Given the description of an element on the screen output the (x, y) to click on. 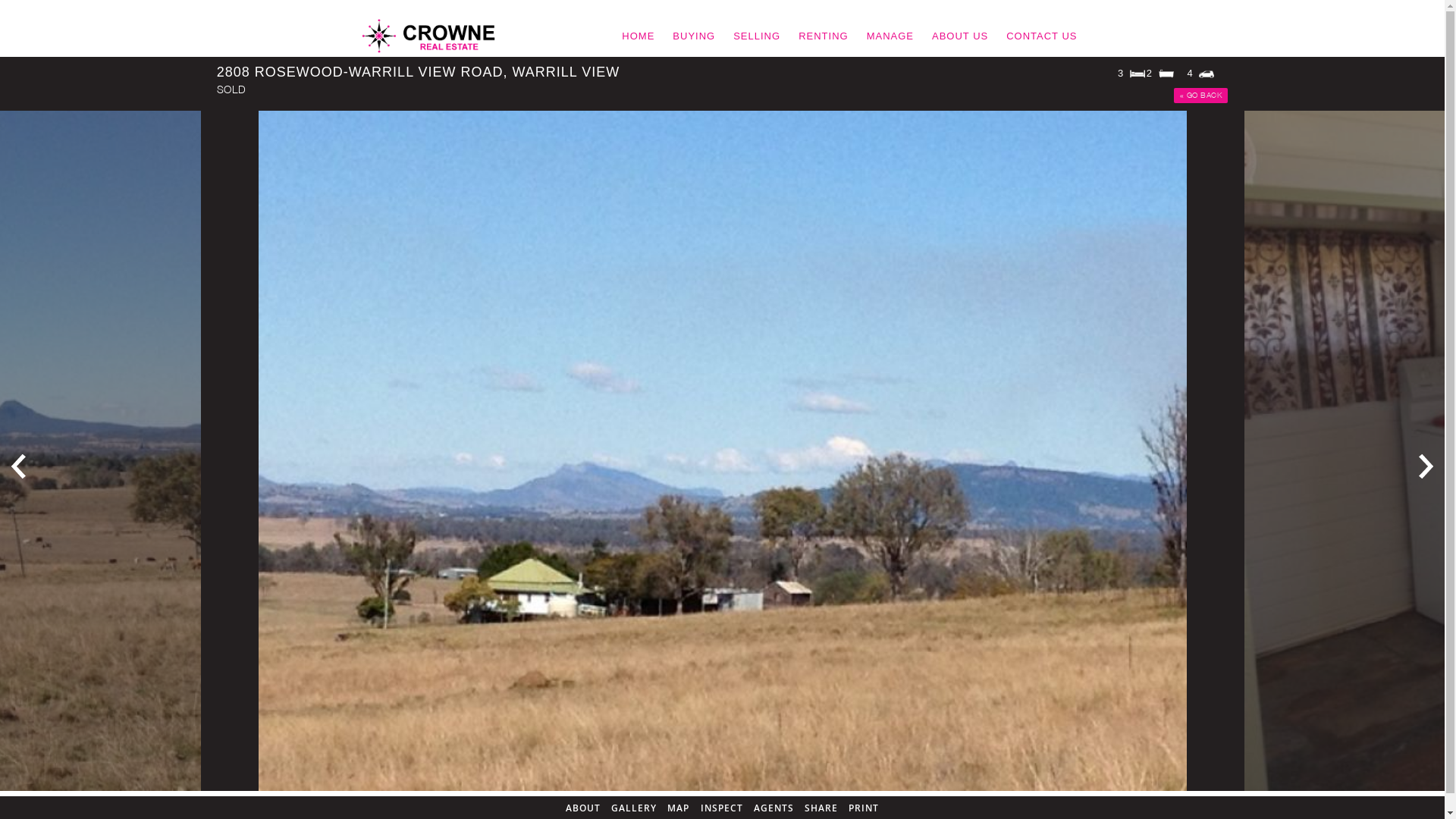
BUYING Element type: text (693, 36)
SELLING Element type: text (756, 36)
ABOUT US Element type: text (959, 36)
Next Element type: text (1425, 466)
HOME Element type: text (637, 36)
MANAGE Element type: text (889, 36)
Previous Element type: text (18, 466)
CONTACT US Element type: text (1041, 36)
RENTING Element type: text (823, 36)
